Given the description of an element on the screen output the (x, y) to click on. 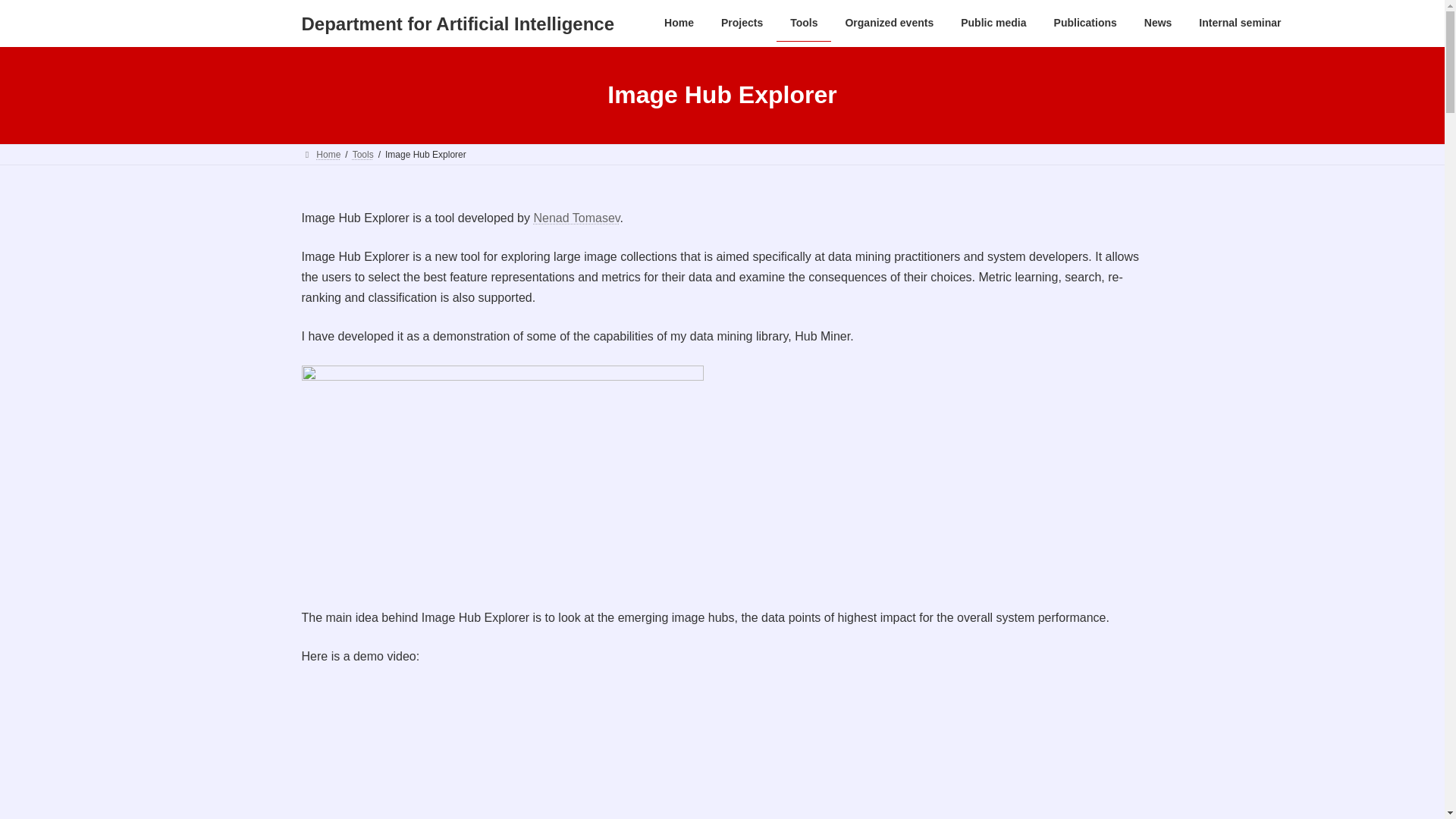
Tools (803, 22)
Home (678, 22)
Department for Artificial Intelligence (457, 23)
Organized events (889, 22)
Projects (741, 22)
